Given the description of an element on the screen output the (x, y) to click on. 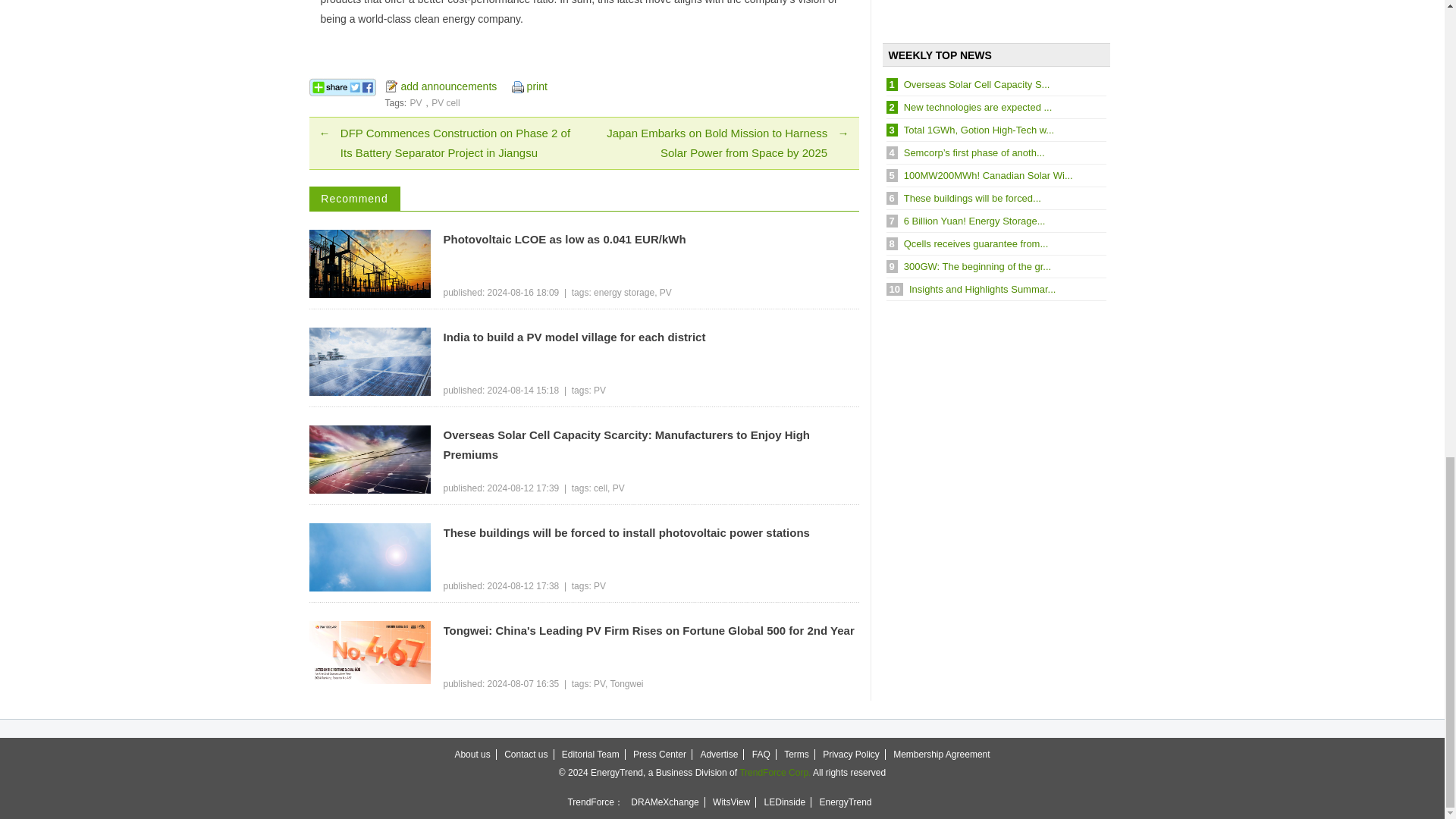
India to build a PV model village for each district (650, 337)
